Given the description of an element on the screen output the (x, y) to click on. 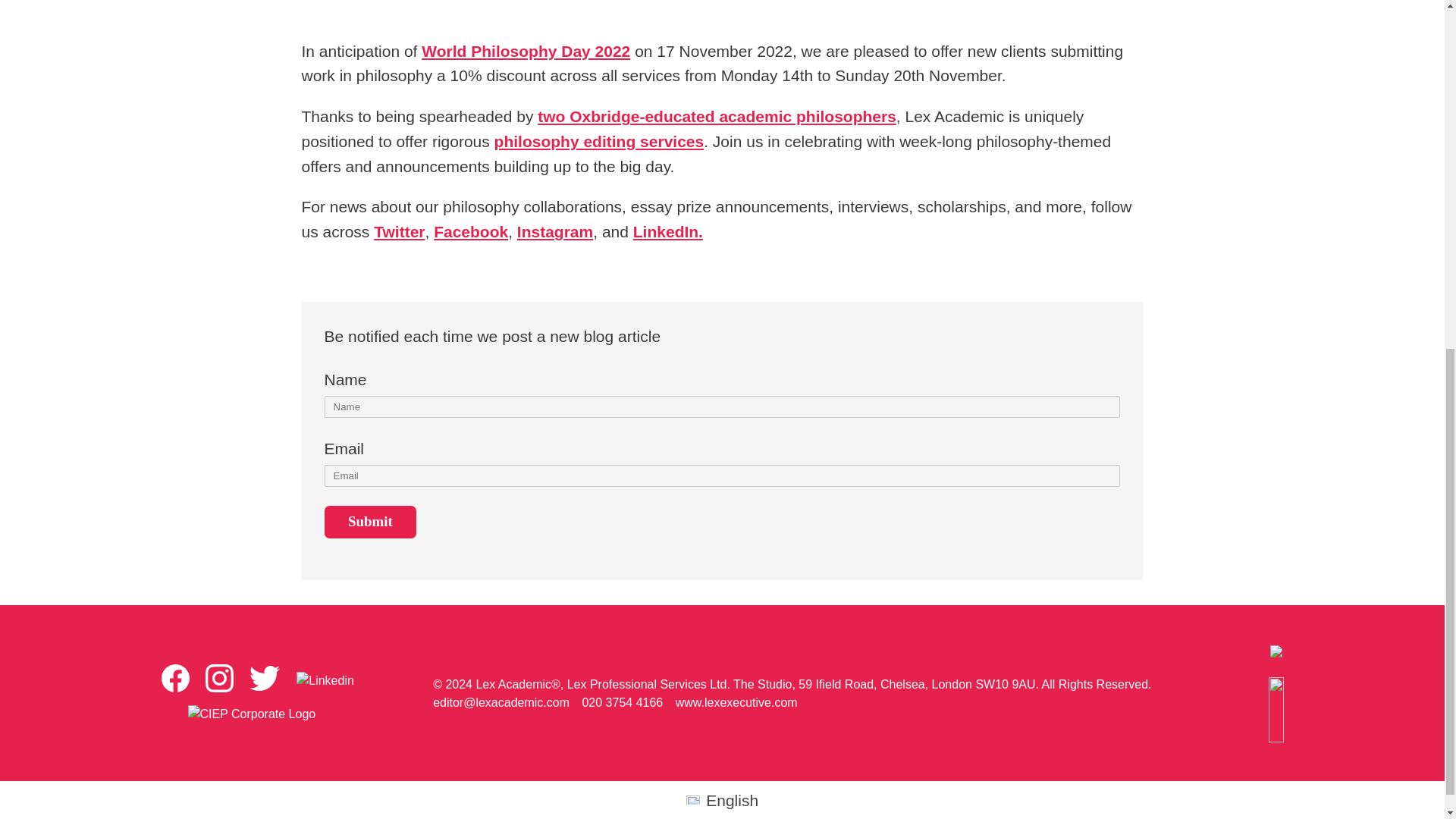
Submit (370, 522)
